Given the description of an element on the screen output the (x, y) to click on. 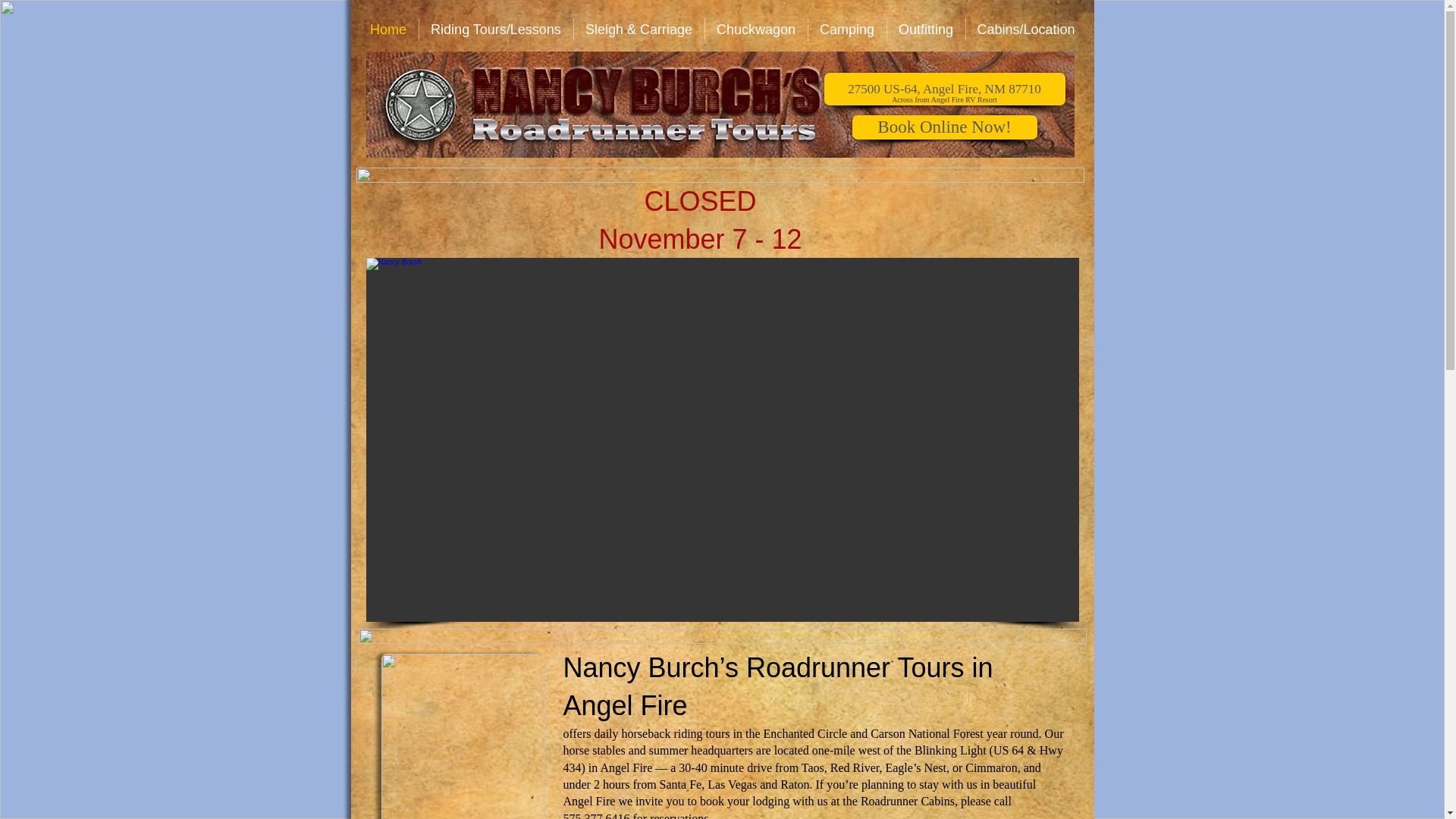
located one-mile w (820, 749)
Book Online Now! (943, 127)
Camping (847, 29)
Chuckwagon (756, 29)
riding tours (700, 733)
27500 US-64, Angel Fire, NM 87710 (944, 88)
Home (387, 29)
Edited-Image-2018-5-8.png (719, 104)
Outfitting (925, 29)
Roadrunner Cabins, please call 575.377.6416 for reservations (786, 806)
